Given the description of an element on the screen output the (x, y) to click on. 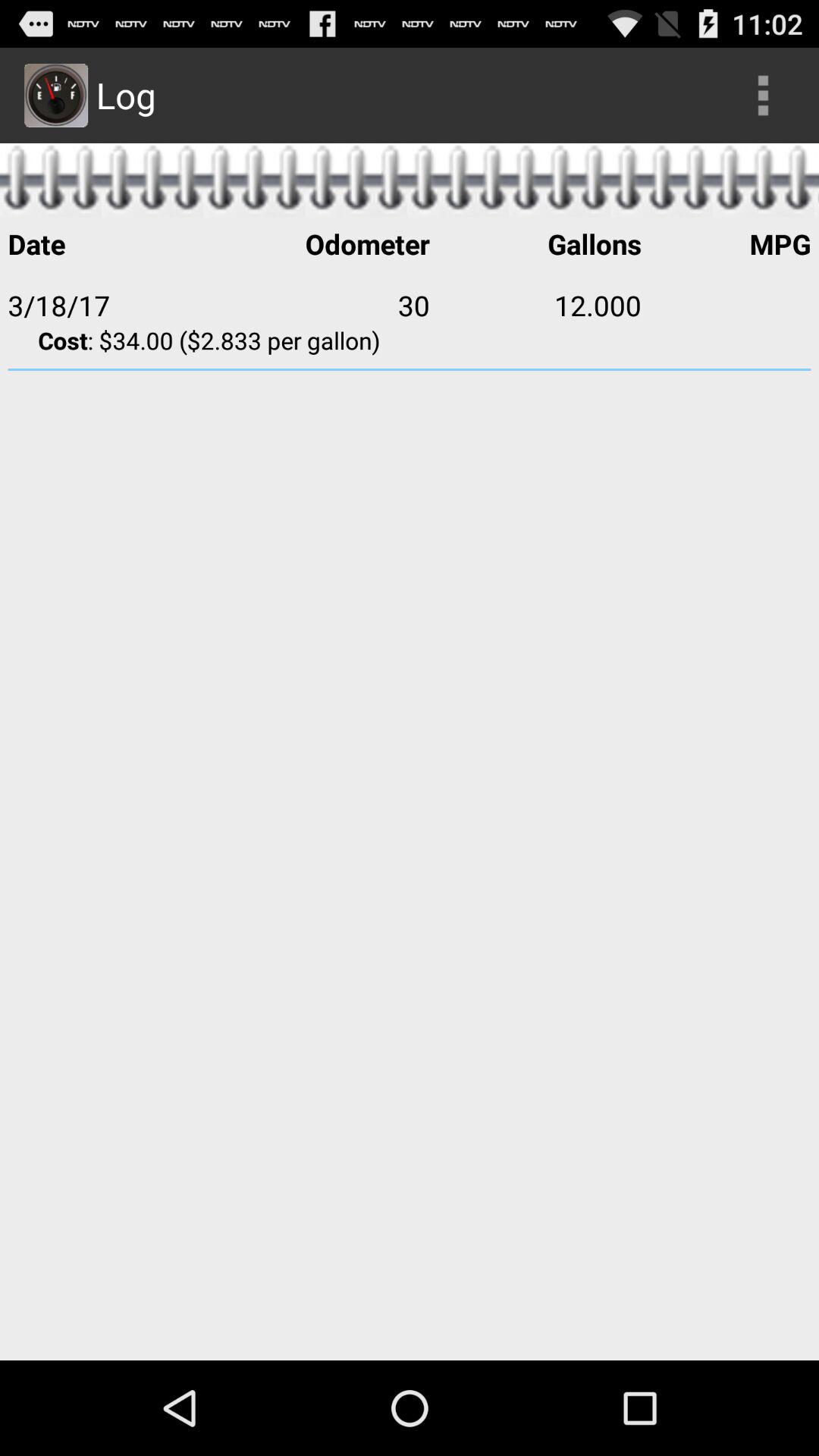
view additonal options (763, 95)
